Given the description of an element on the screen output the (x, y) to click on. 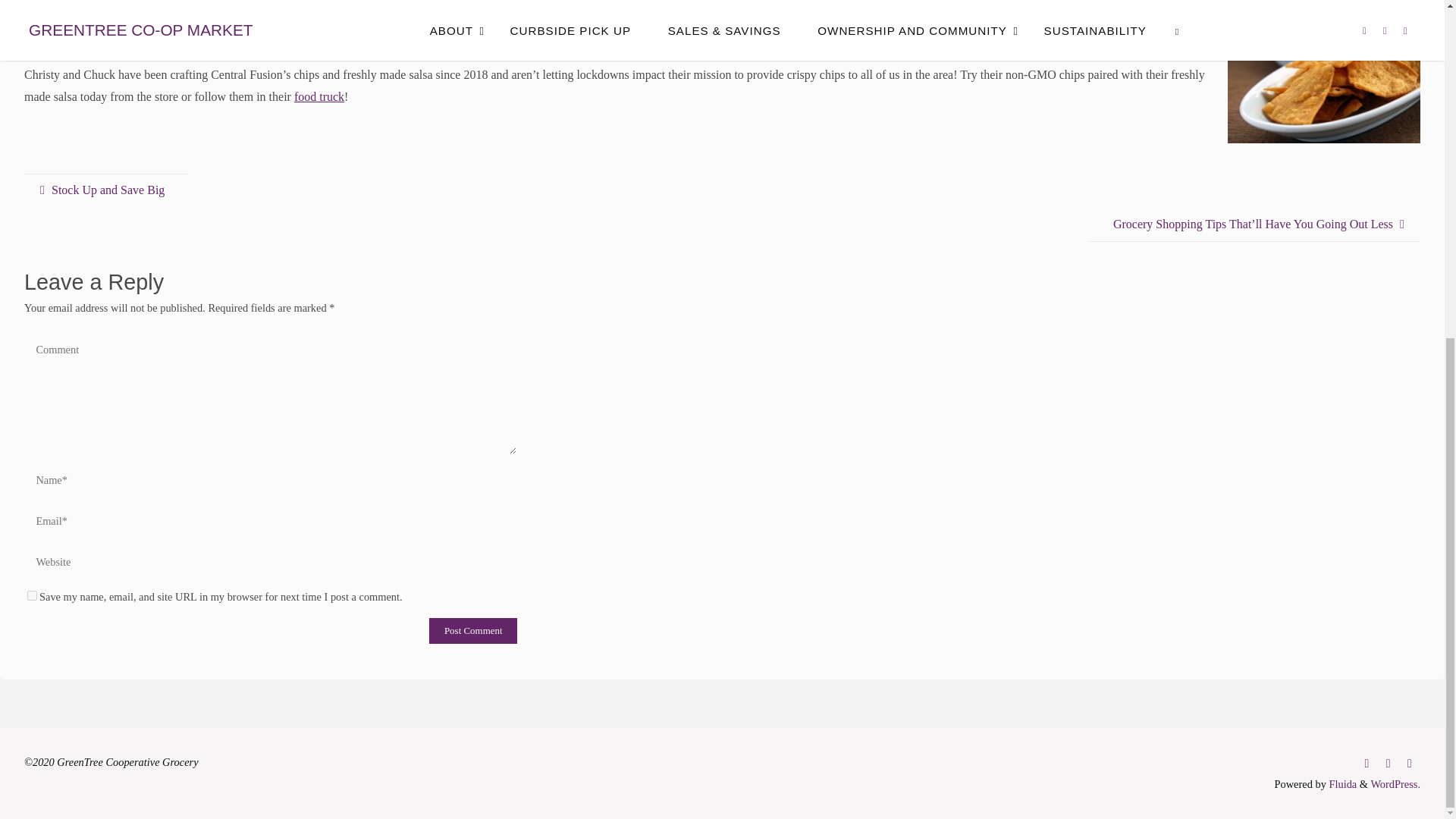
Semantic Personal Publishing Platform (1395, 784)
Fluida WordPress Theme by Cryout Creations (1341, 784)
yes (32, 595)
Post Comment (472, 630)
